Given the description of an element on the screen output the (x, y) to click on. 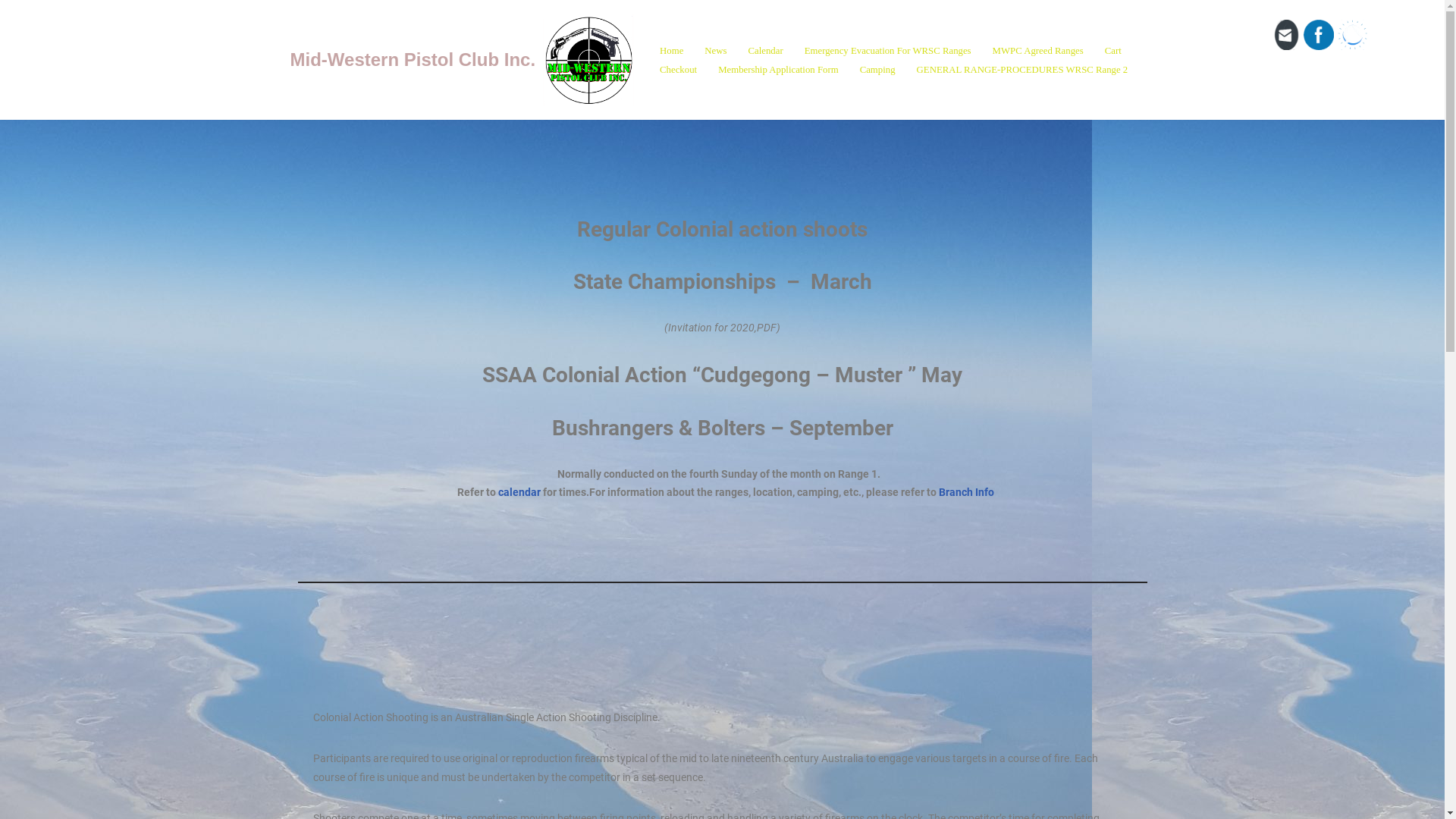
Mid-Western Pistol Club Inc. Element type: text (461, 59)
Skip to content Element type: text (11, 31)
Calendar Element type: text (765, 49)
Camping Element type: text (877, 68)
Emergency Evacuation For WRSC Ranges Element type: text (887, 49)
Home Element type: text (671, 49)
calendar Element type: text (520, 492)
GENERAL RANGE-PROCEDURES WRSC Range 2 Element type: text (1022, 68)
News Element type: text (715, 49)
Checkout Element type: text (677, 68)
Branch Info Element type: text (965, 492)
Facebook Element type: hover (1318, 34)
Membership Application Form Element type: text (778, 68)
MWPC Agreed Ranges Element type: text (1037, 49)
Cart Element type: text (1112, 49)
